Given the description of an element on the screen output the (x, y) to click on. 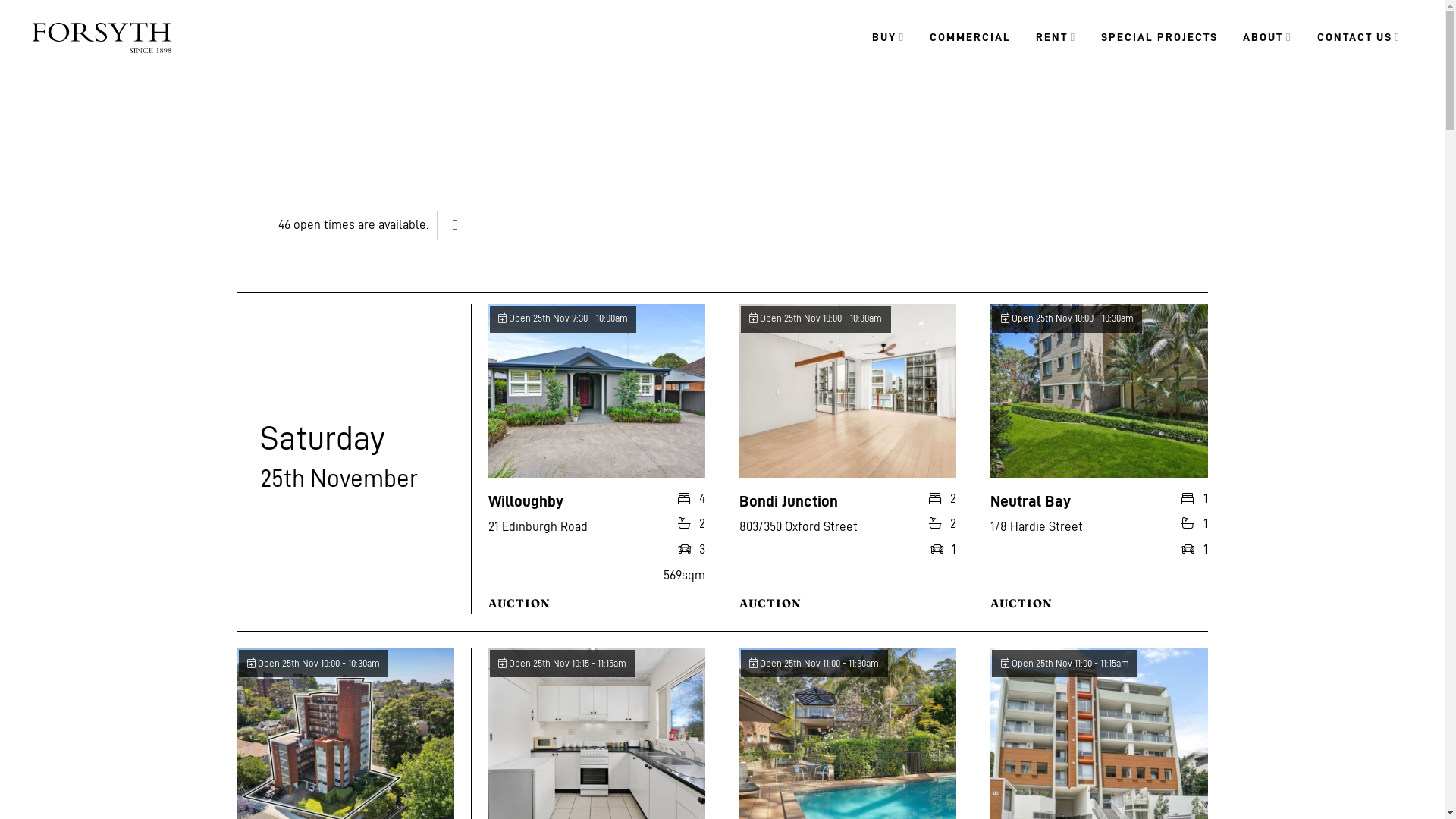
SPECIAL PROJECTS Element type: text (1159, 38)
ABOUT Element type: text (1266, 38)
COMMERCIAL Element type: text (970, 38)
RENT Element type: text (1055, 38)
Open 25th Nov 10:15 - 11:15am Element type: text (562, 663)
Open 25th Nov 10:00 - 10:30am Element type: text (313, 663)
Willoughby
21 Edinburgh Road
AUCTION
 4
 2
 3
 569sqm Element type: text (596, 458)
Open 25th Nov 11:00 - 11:15am Element type: text (1064, 663)
Bondi Junction
803/350 Oxford Street
AUCTION
 2
 2
 1 Element type: text (847, 458)
CONTACT US Element type: text (1358, 38)
Open 25th Nov 9:30 - 10:00am Element type: text (563, 318)
BUY Element type: text (888, 38)
Neutral Bay
1/8 Hardie Street
AUCTION
 1
 1
 1 Element type: text (1098, 458)
Open 25th Nov 10:00 - 10:30am Element type: text (1066, 318)
Open 25th Nov 11:00 - 11:30am Element type: text (814, 663)
Open 25th Nov 10:00 - 10:30am Element type: text (815, 318)
